Given the description of an element on the screen output the (x, y) to click on. 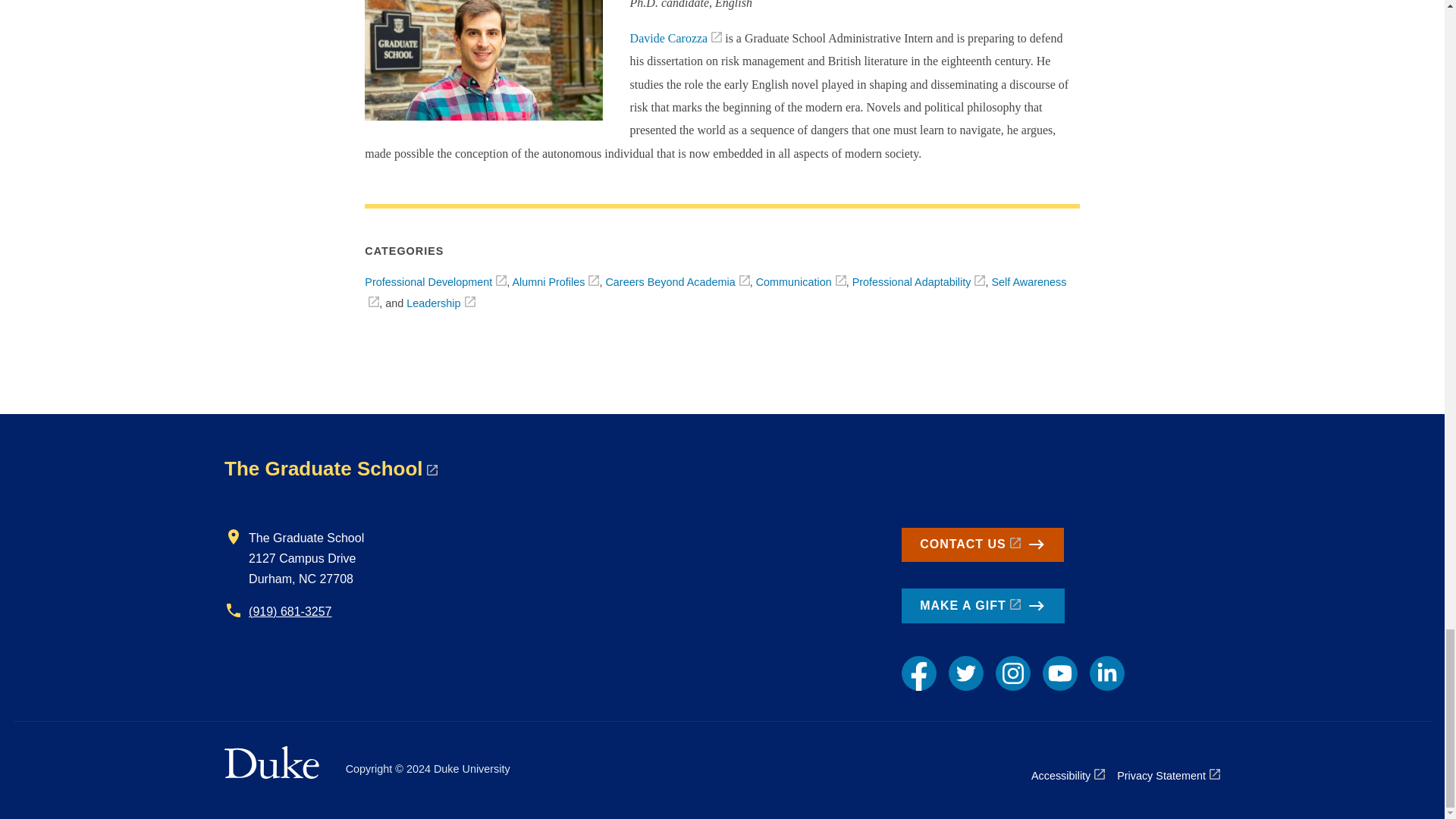
YouTube link (1059, 673)
Facebook link (918, 673)
LinkedIn link (1106, 673)
Twitter link (966, 673)
Instagram link (1012, 673)
